Given the description of an element on the screen output the (x, y) to click on. 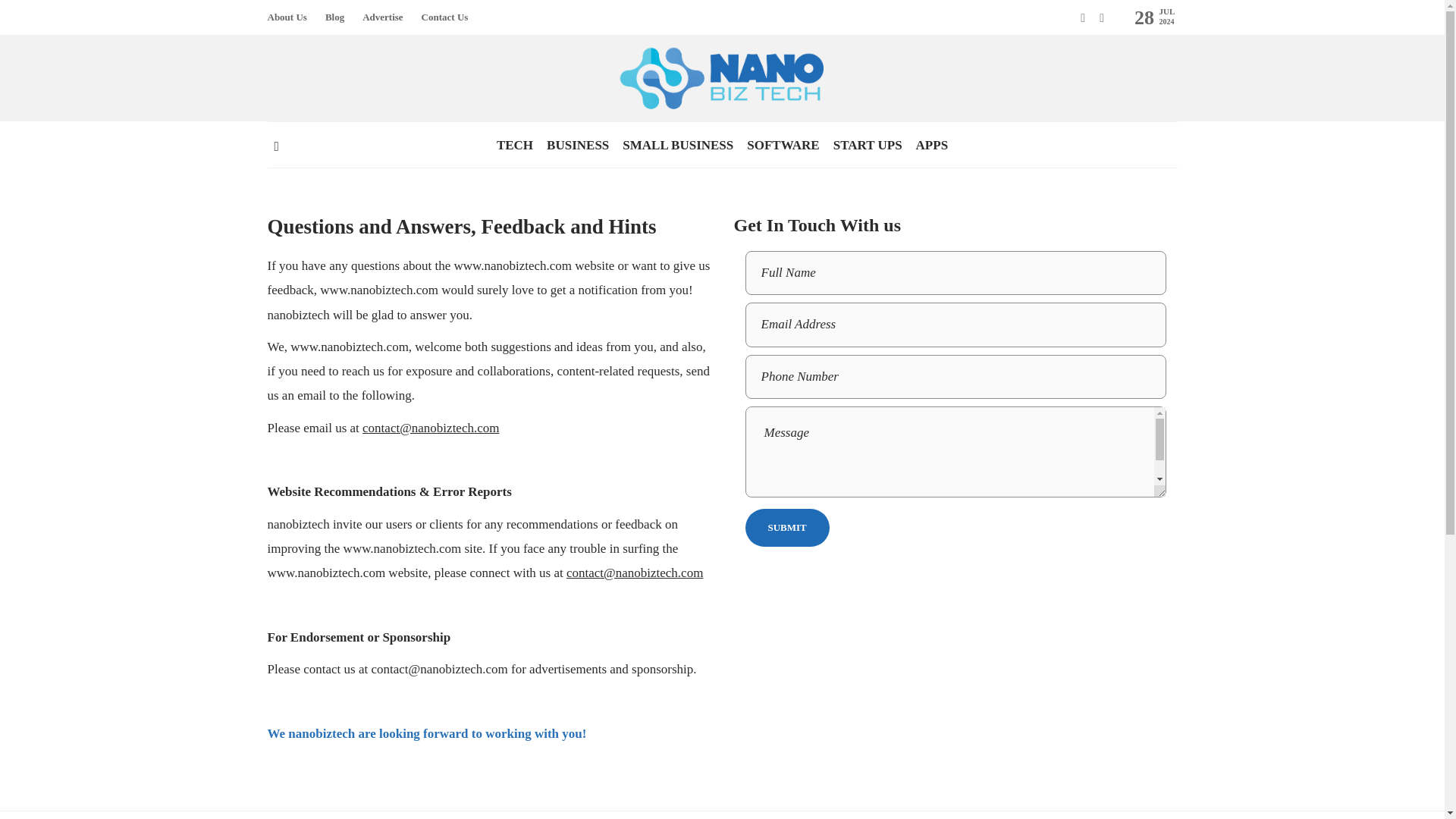
Submit (786, 527)
